Given the description of an element on the screen output the (x, y) to click on. 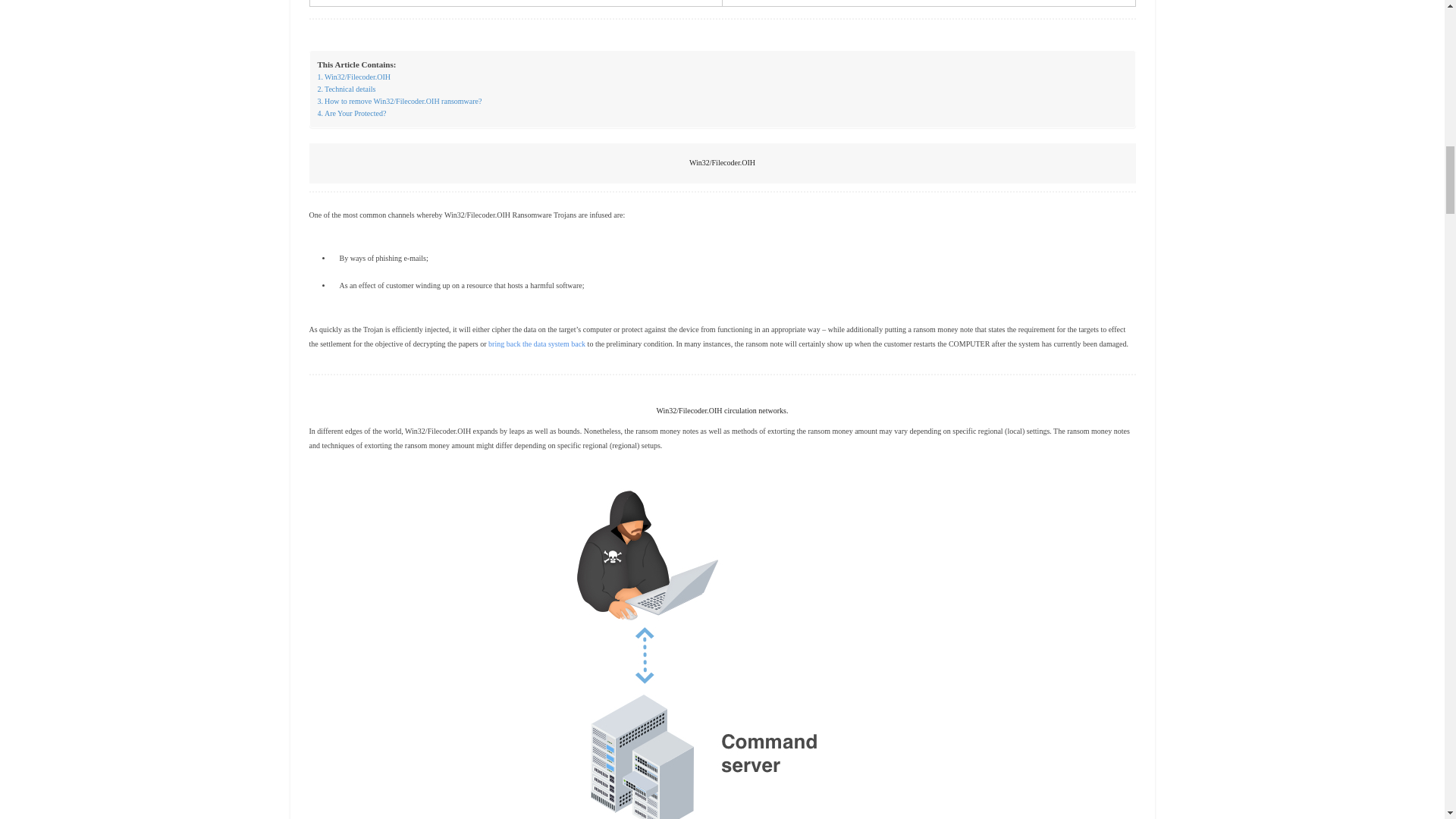
Technical details (346, 89)
Technical details (346, 89)
bring back the data system back (536, 343)
Are Your Protected? (351, 113)
Are Your Protected? (351, 113)
